Given the description of an element on the screen output the (x, y) to click on. 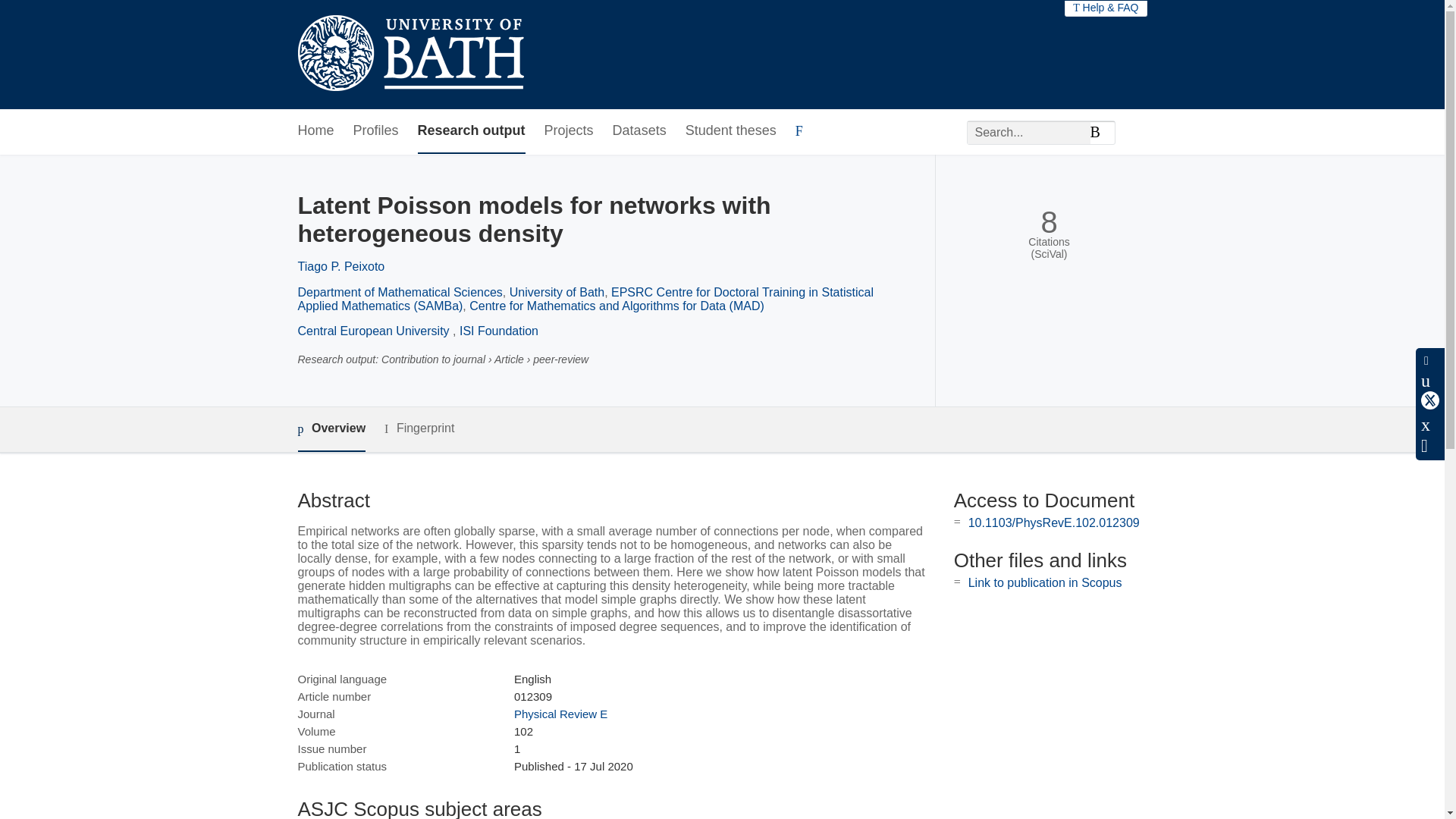
Fingerprint (419, 428)
Projects (569, 130)
Central European University (374, 330)
Research output (471, 130)
Overview (331, 429)
Home (315, 130)
Link to publication in Scopus (1045, 582)
Tiago P. Peixoto (340, 266)
Datasets (639, 130)
Student theses (730, 130)
Profiles (375, 130)
University of Bath (556, 291)
Department of Mathematical Sciences (399, 291)
Physical Review E (560, 713)
